Given the description of an element on the screen output the (x, y) to click on. 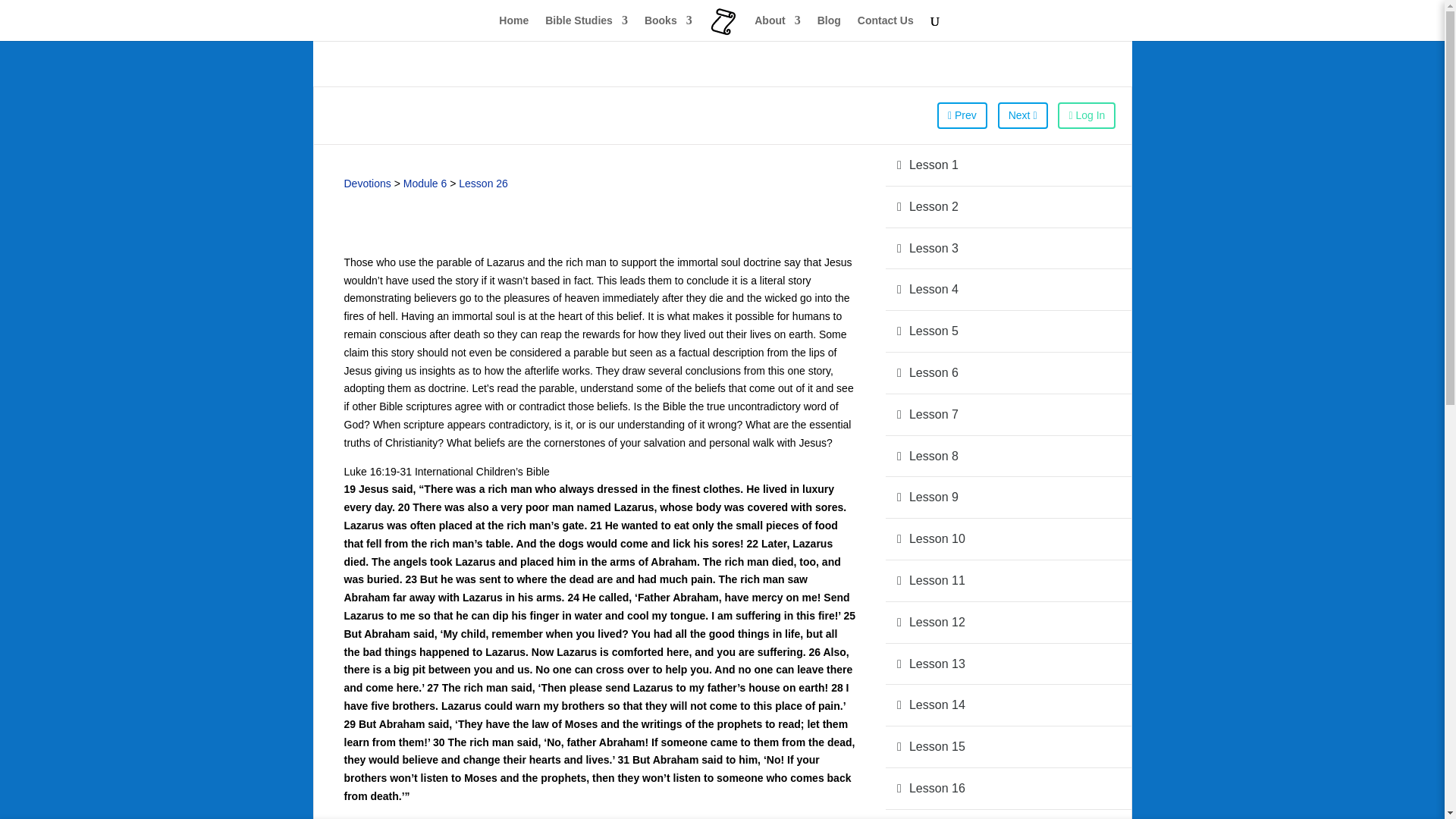
About (776, 27)
Blog (828, 27)
Bible Studies (585, 27)
Books (669, 27)
Contact Us (885, 27)
Home (513, 27)
